Given the description of an element on the screen output the (x, y) to click on. 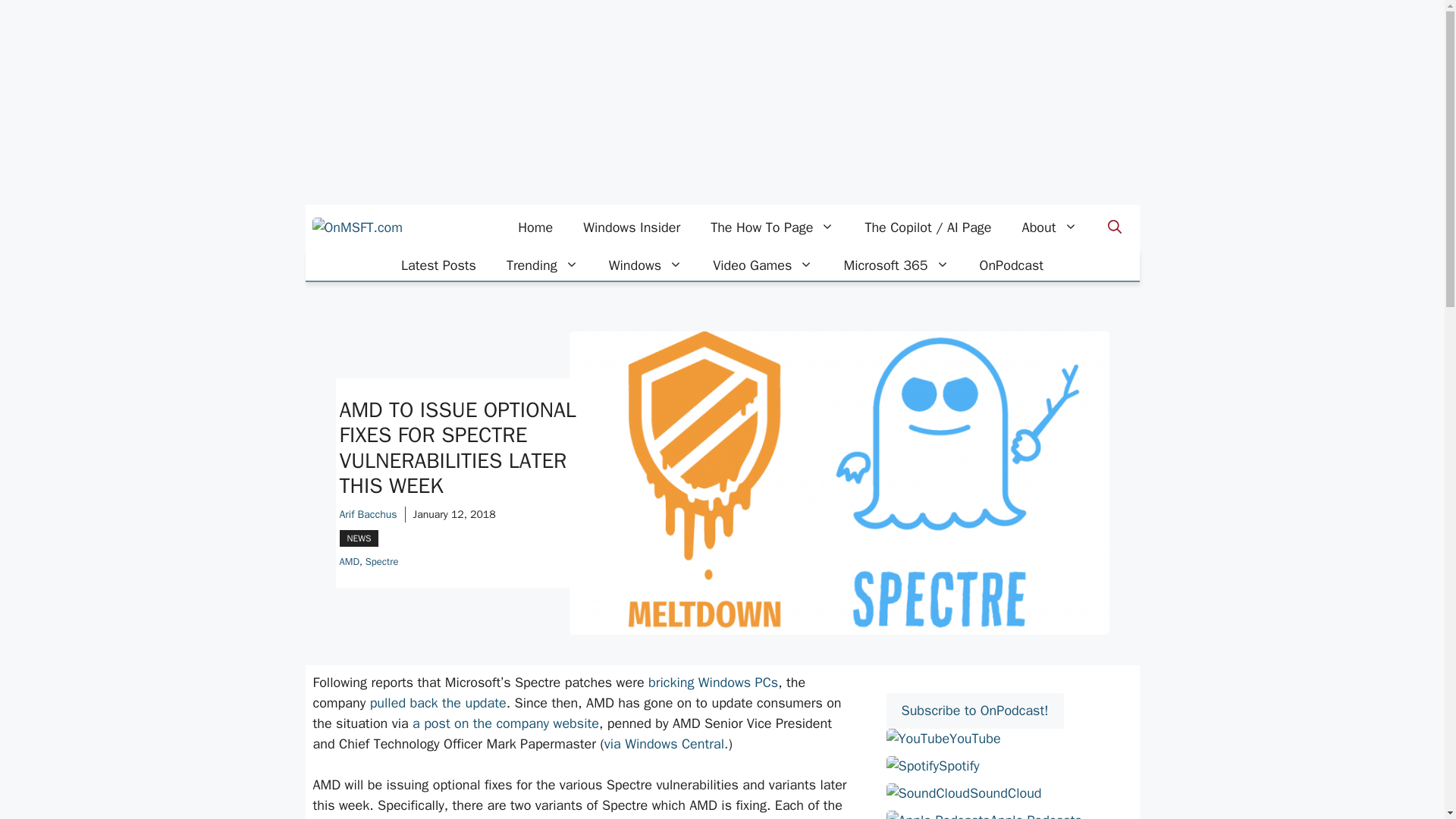
Windows (645, 265)
Video Games (762, 265)
Latest Posts (438, 265)
Home (534, 227)
The How To Page (771, 227)
About (1050, 227)
Trending (543, 265)
Windows Insider (631, 227)
